Given the description of an element on the screen output the (x, y) to click on. 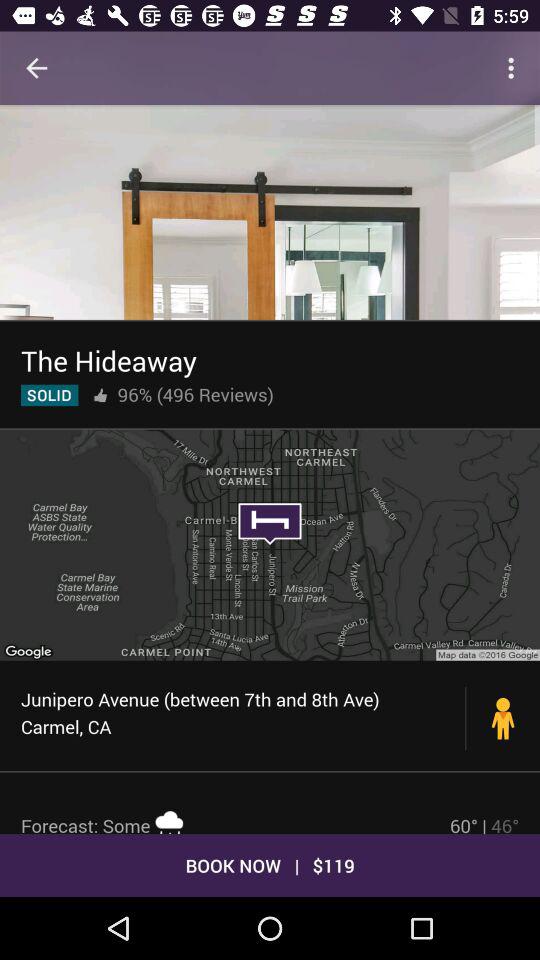
jump to the book now   |   $119 icon (270, 864)
